Given the description of an element on the screen output the (x, y) to click on. 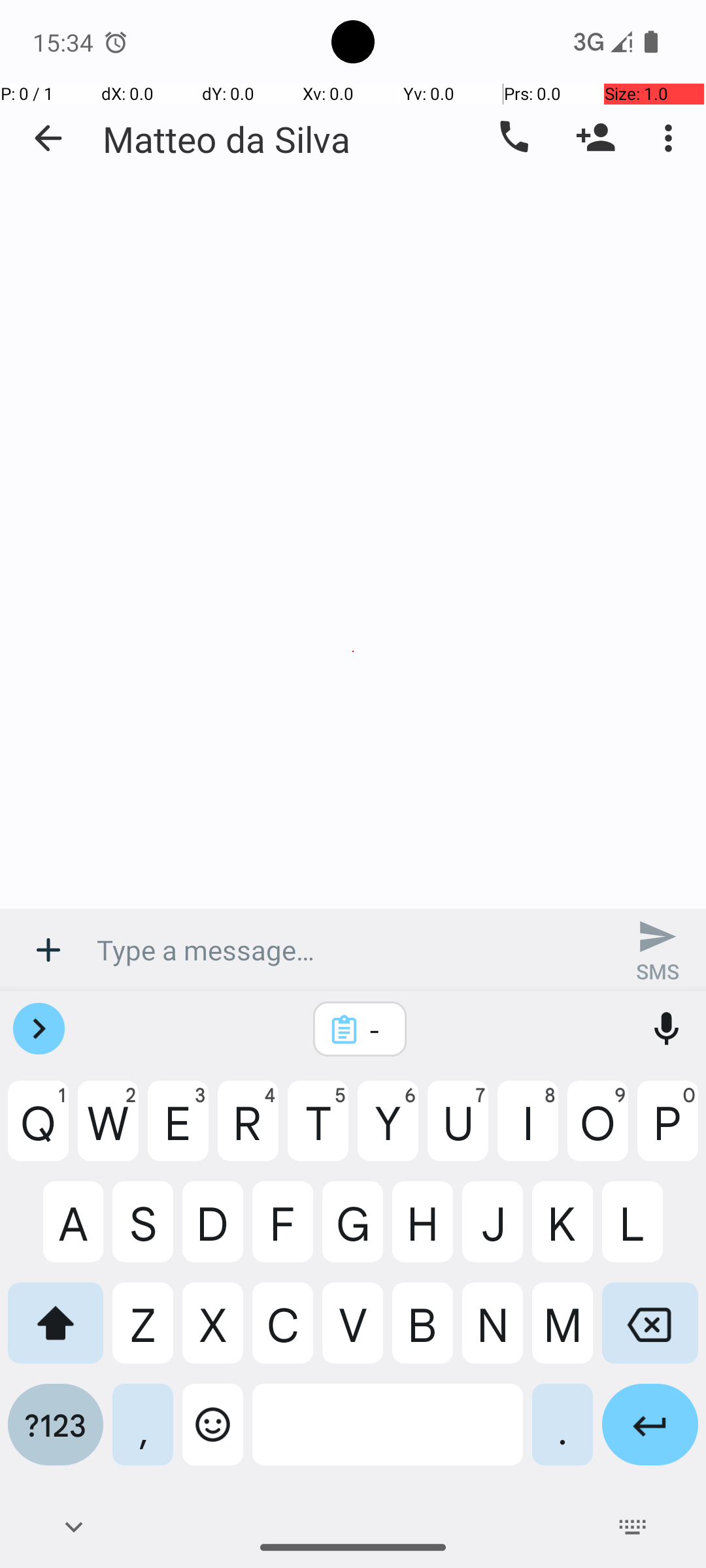
Matteo da Silva Element type: android.widget.TextView (226, 138)
